Given the description of an element on the screen output the (x, y) to click on. 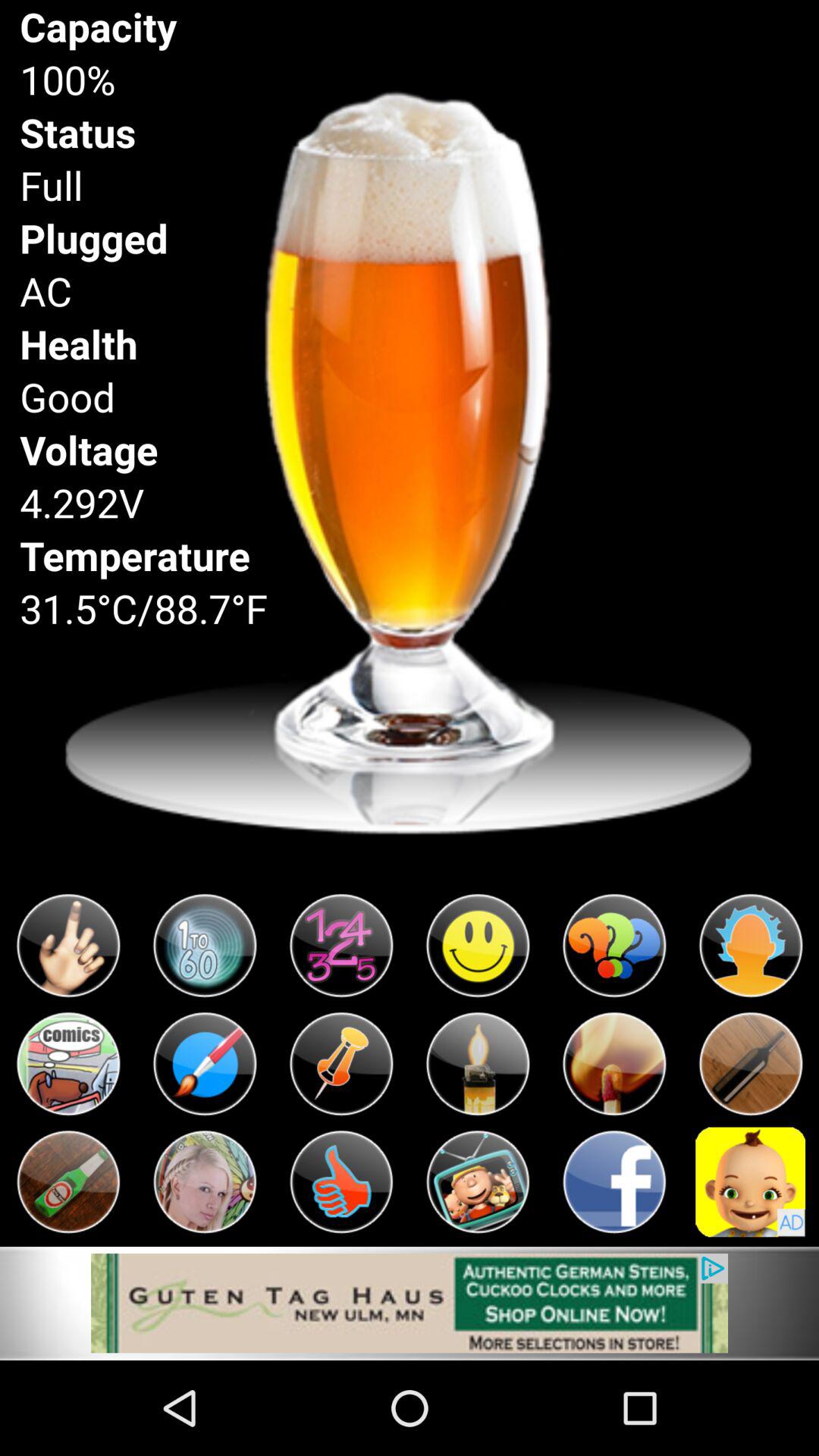
select the lighter emoji (477, 1063)
